Given the description of an element on the screen output the (x, y) to click on. 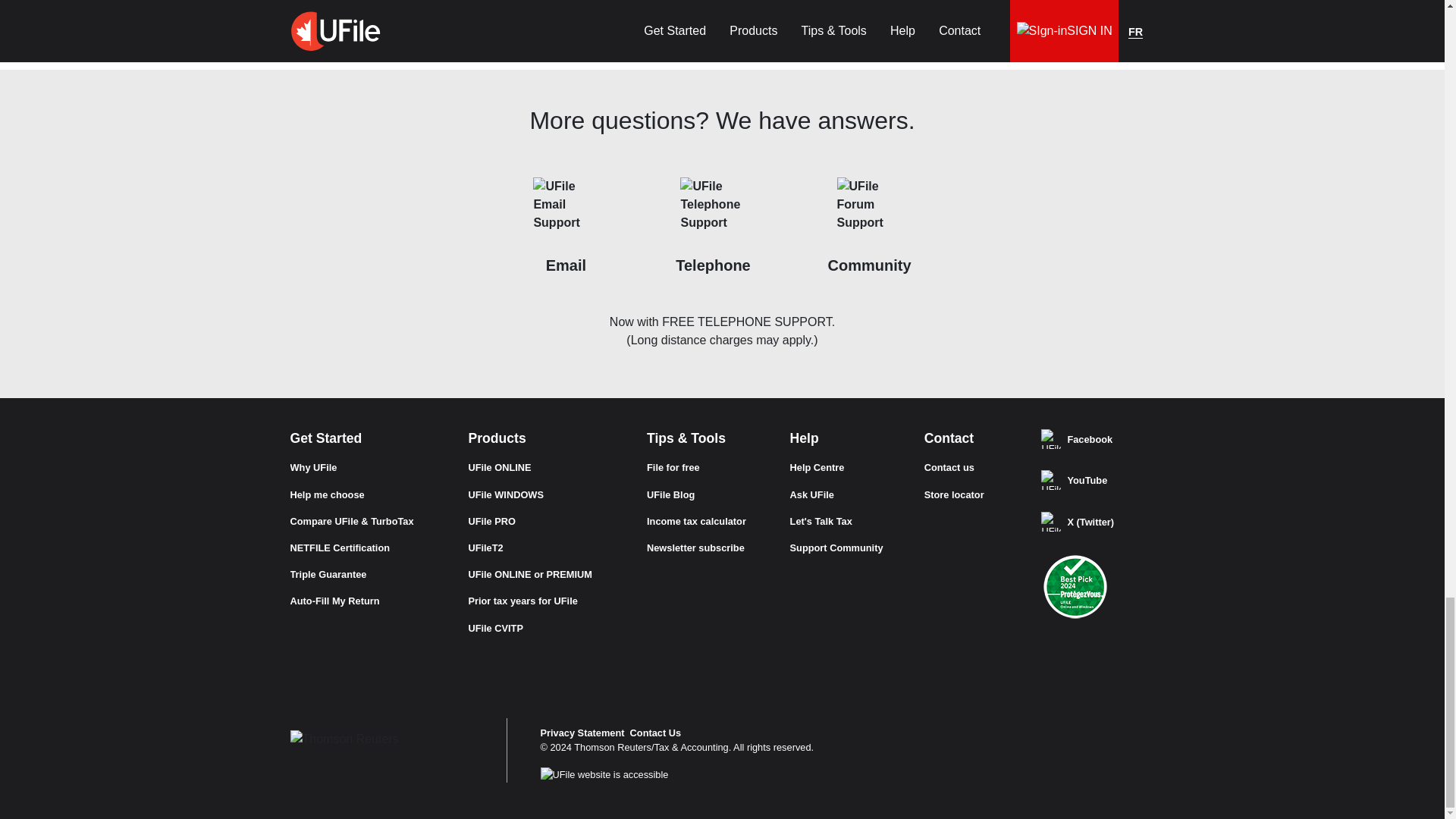
UFile Forum Support (869, 209)
UFile website is accessible (604, 774)
Privacy (582, 732)
UFile on Twitter (1051, 521)
Contact us (655, 732)
Thomson Reuters (343, 733)
YouTube (1051, 479)
UFile Telephone Support (712, 209)
UFile on Facebook (1051, 438)
UFile Email Support (565, 209)
